Given the description of an element on the screen output the (x, y) to click on. 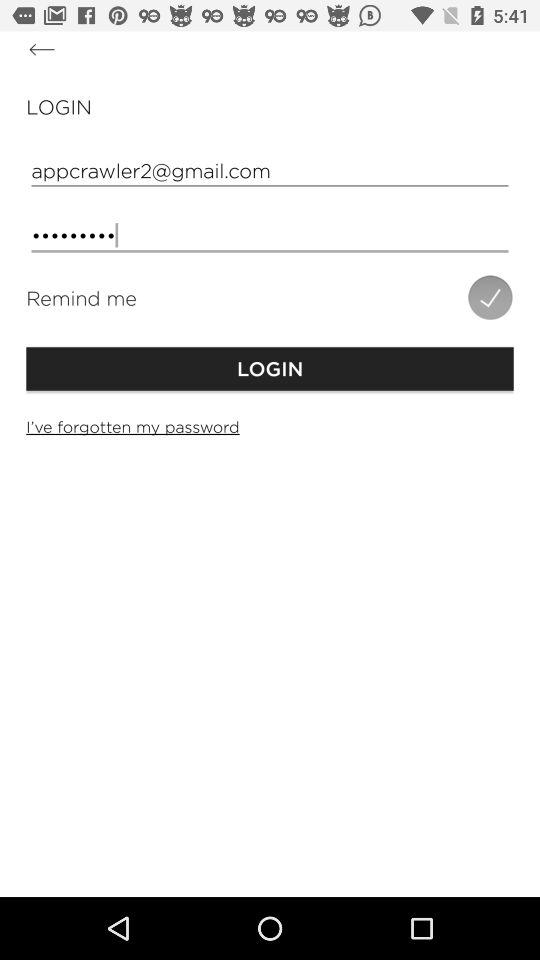
choose icon at the top right corner (490, 297)
